Given the description of an element on the screen output the (x, y) to click on. 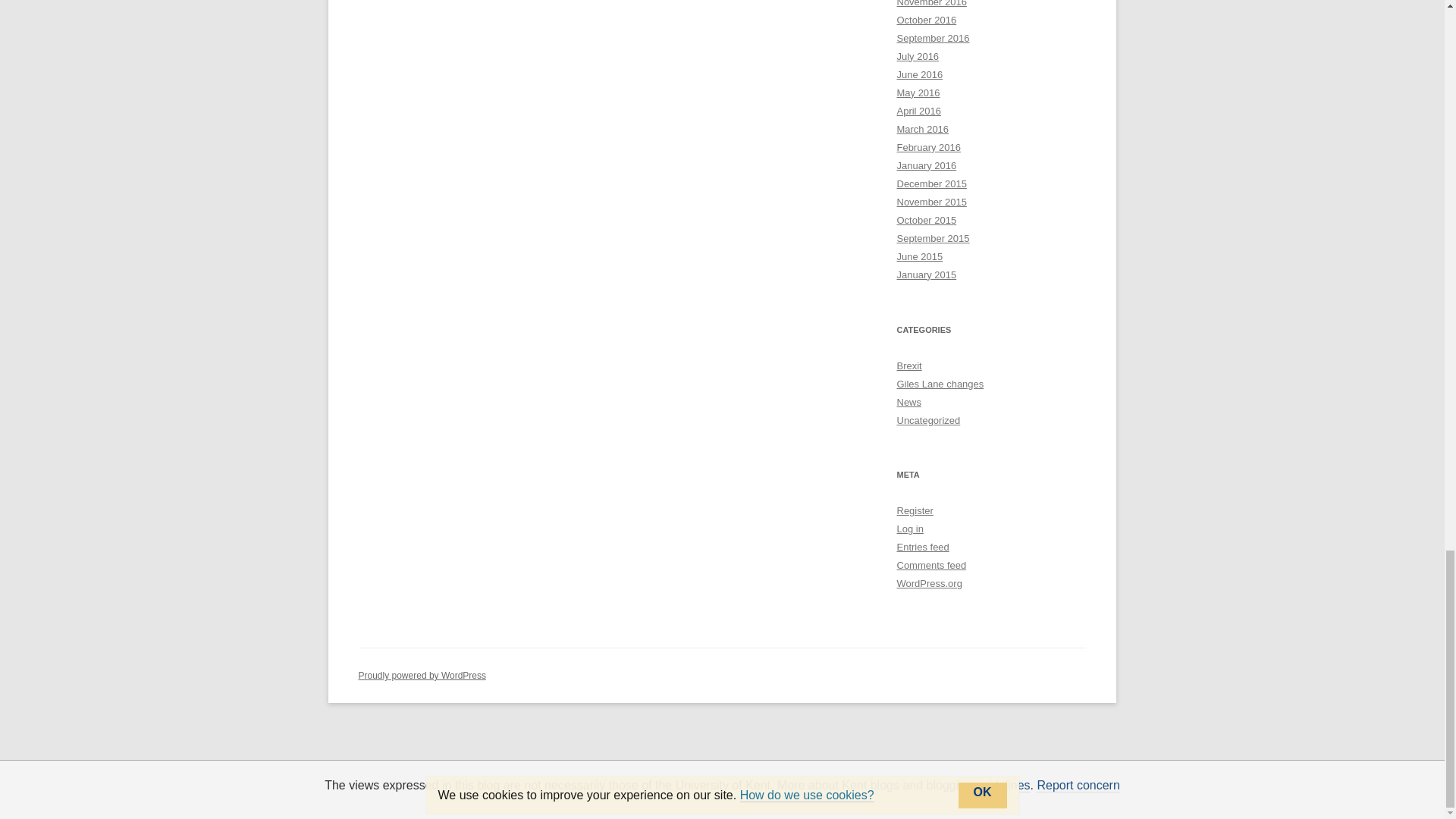
Changes to Giles Lane car park (940, 383)
Semantic Personal Publishing Platform (422, 675)
